Given the description of an element on the screen output the (x, y) to click on. 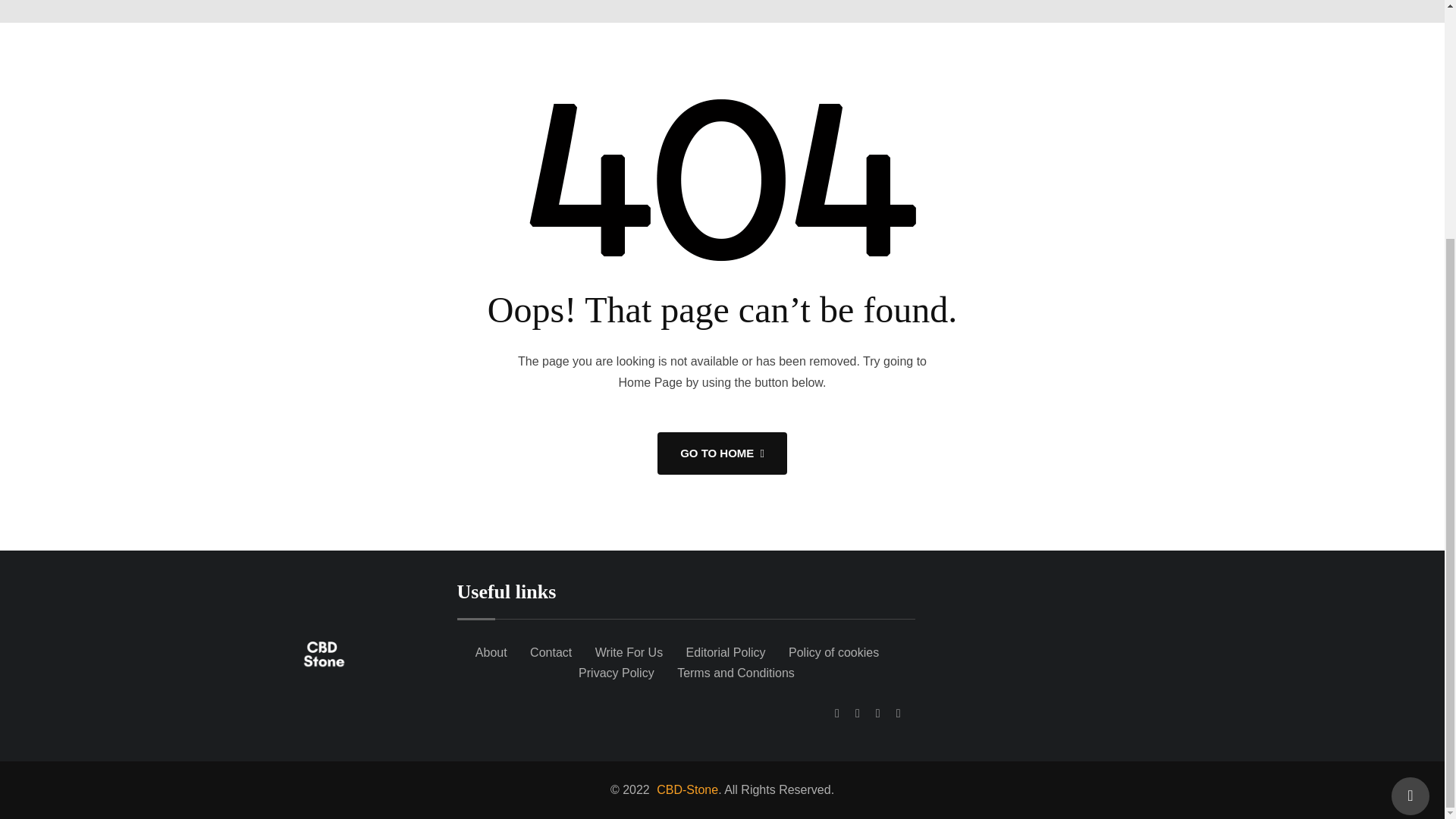
Write For Us (628, 652)
Contact (550, 652)
About (491, 652)
Privacy Policy (615, 672)
Terms and Conditions (735, 672)
Editorial Policy (725, 652)
GO TO HOME (722, 453)
CBD-Stone (684, 789)
Policy of cookies (834, 652)
